Given the description of an element on the screen output the (x, y) to click on. 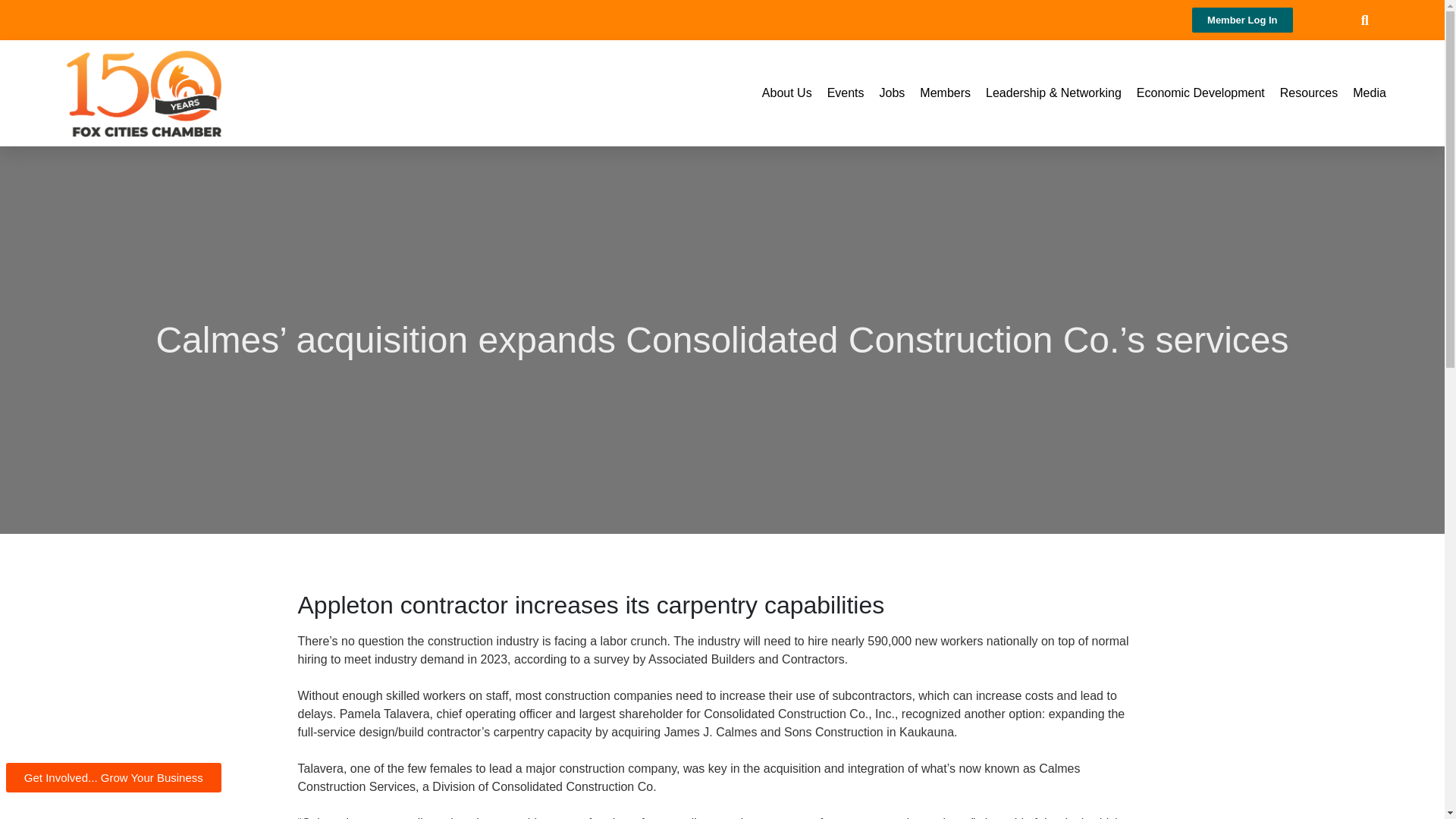
Member Log In (1242, 19)
About Us (786, 93)
